Given the description of an element on the screen output the (x, y) to click on. 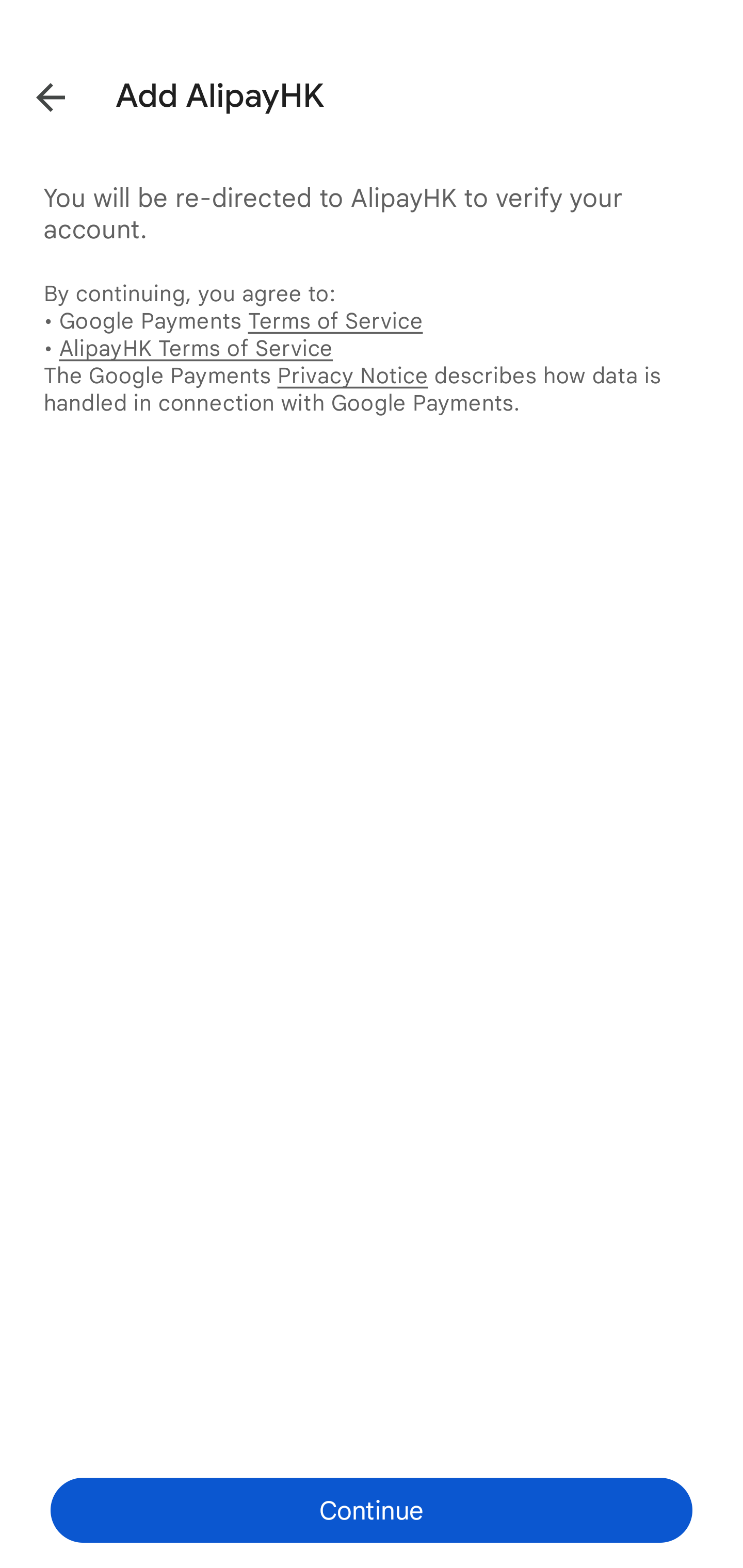
Back (36, 94)
Terms of Service (334, 320)
AlipayHK Terms of Service (195, 347)
Privacy Notice (352, 375)
Continue (371, 1510)
